Given the description of an element on the screen output the (x, y) to click on. 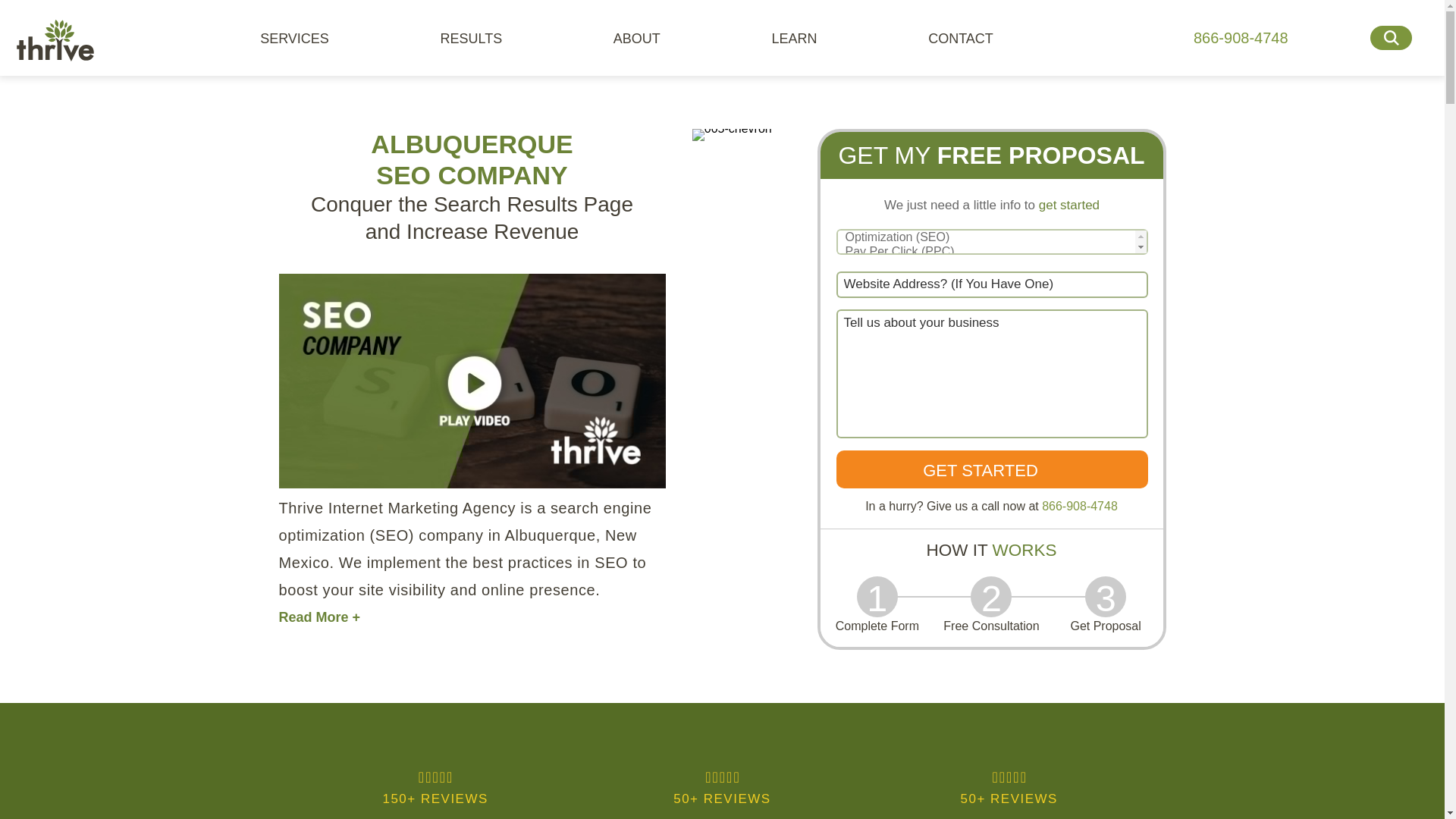
SERVICES (301, 37)
005-chevron (732, 134)
Get Started (991, 469)
